Given the description of an element on the screen output the (x, y) to click on. 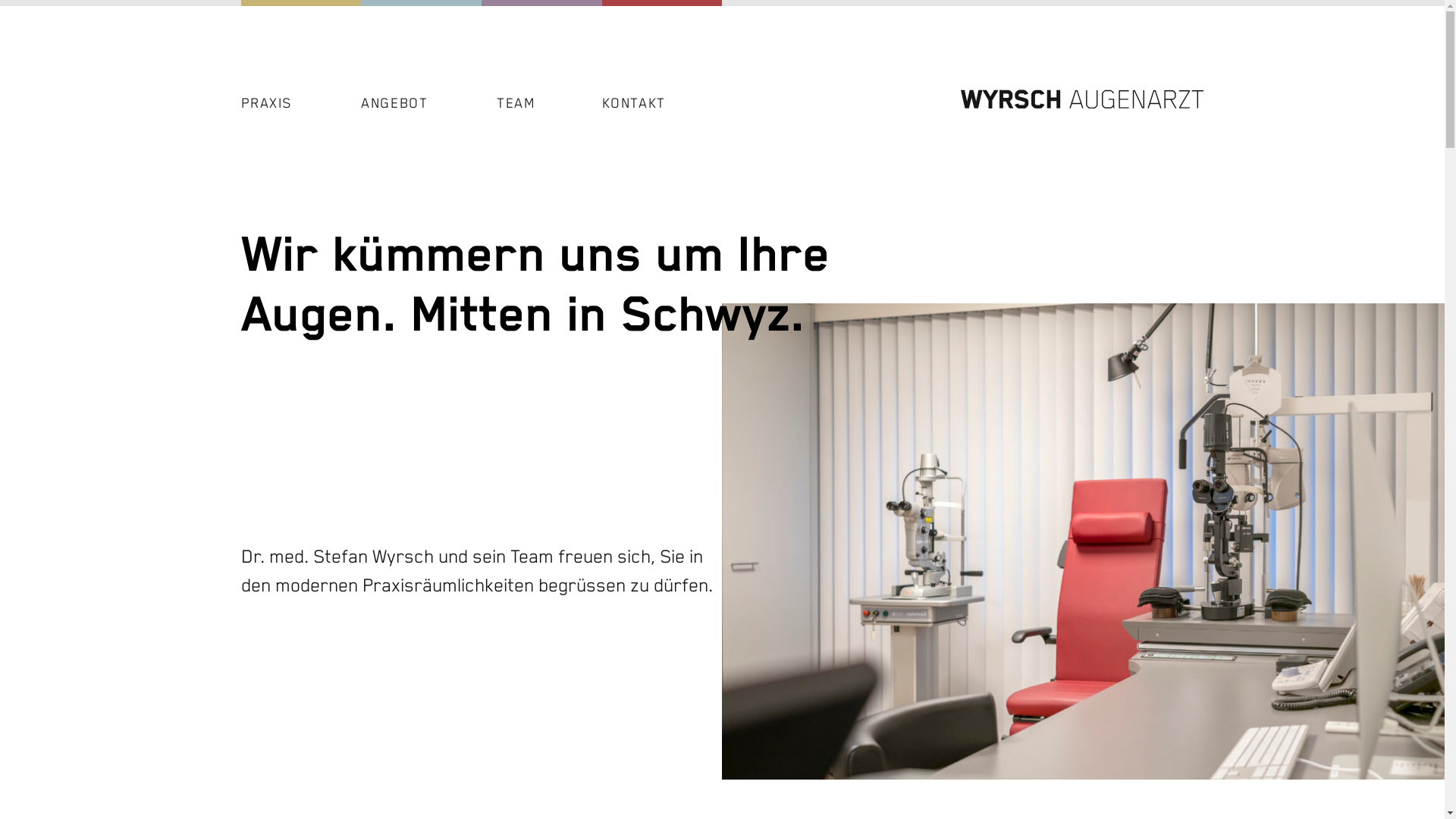
PRAXIS Element type: text (266, 104)
KONTAKT Element type: text (633, 104)
TEAM Element type: text (515, 104)
ANGEBOT Element type: text (394, 104)
